Given the description of an element on the screen output the (x, y) to click on. 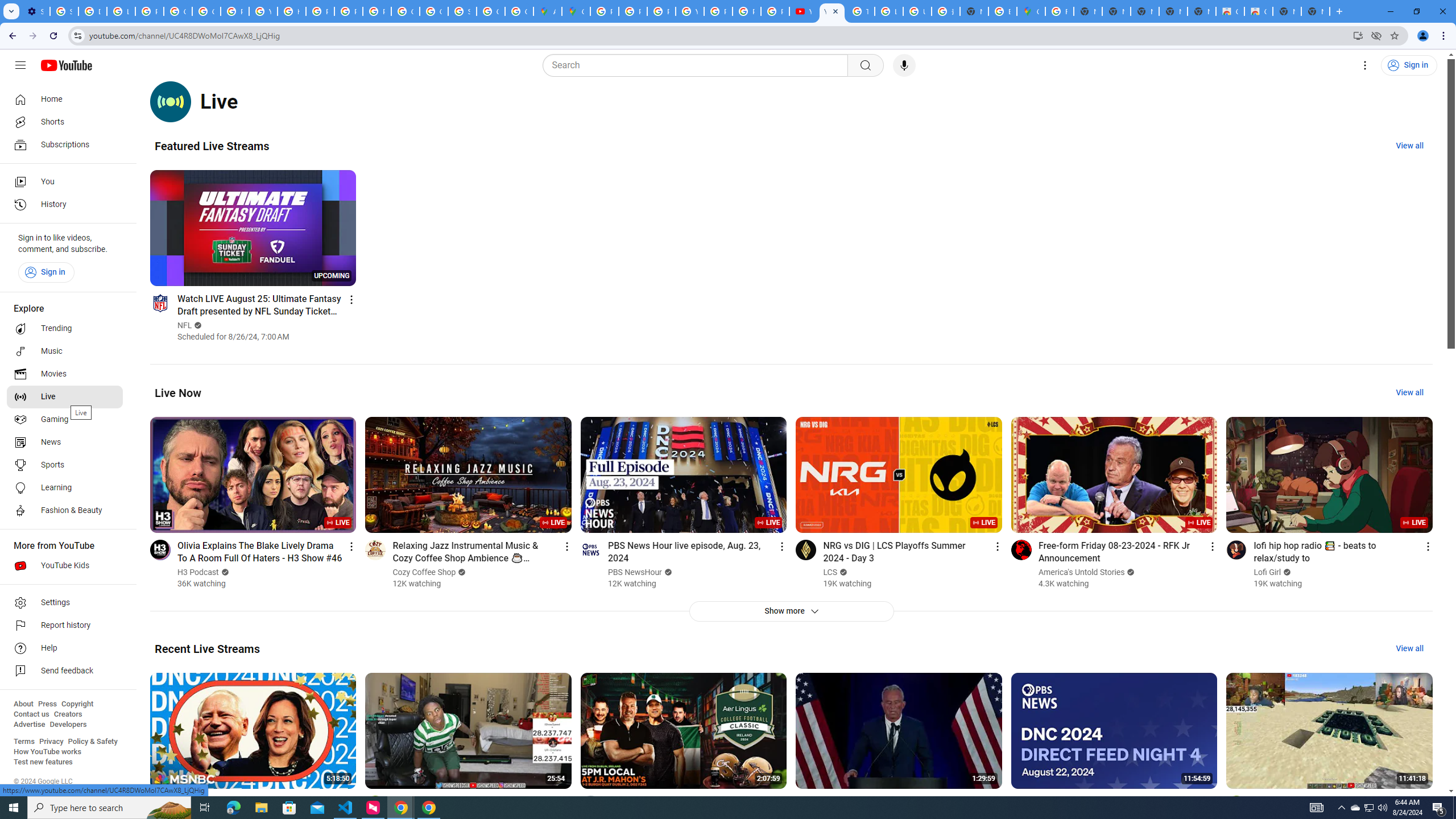
Privacy Help Center - Policies Help (661, 11)
Guide (20, 65)
Google Maps (575, 11)
Advertise (29, 724)
Learning (64, 487)
Copyright (77, 703)
Classic Blue - Chrome Web Store (1258, 11)
Subscriptions (64, 144)
Policy & Safety (91, 741)
Google Account Help (206, 11)
